Given the description of an element on the screen output the (x, y) to click on. 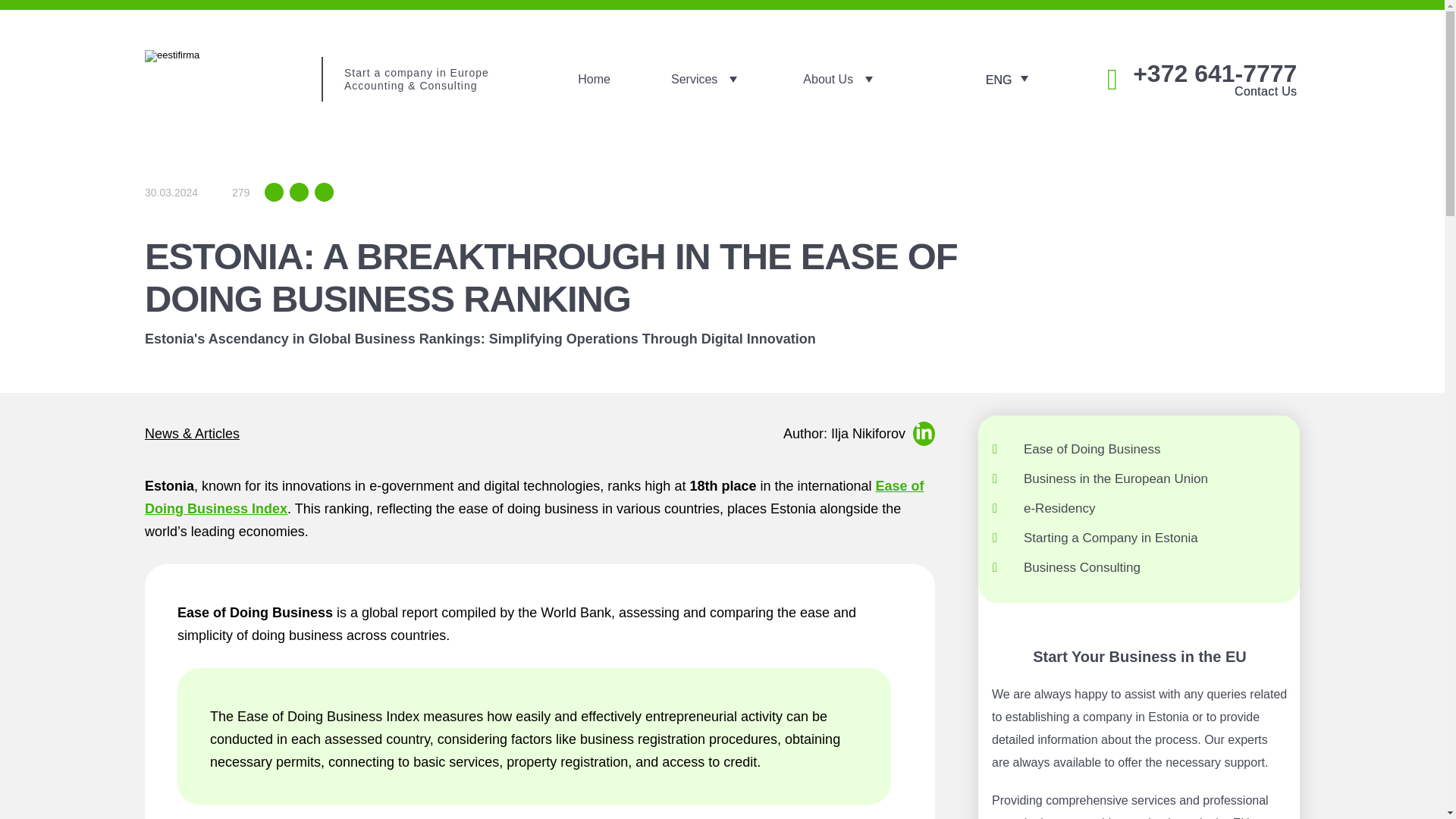
Home (593, 78)
Ease of Doing Business Index (534, 497)
Services (706, 78)
